Given the description of an element on the screen output the (x, y) to click on. 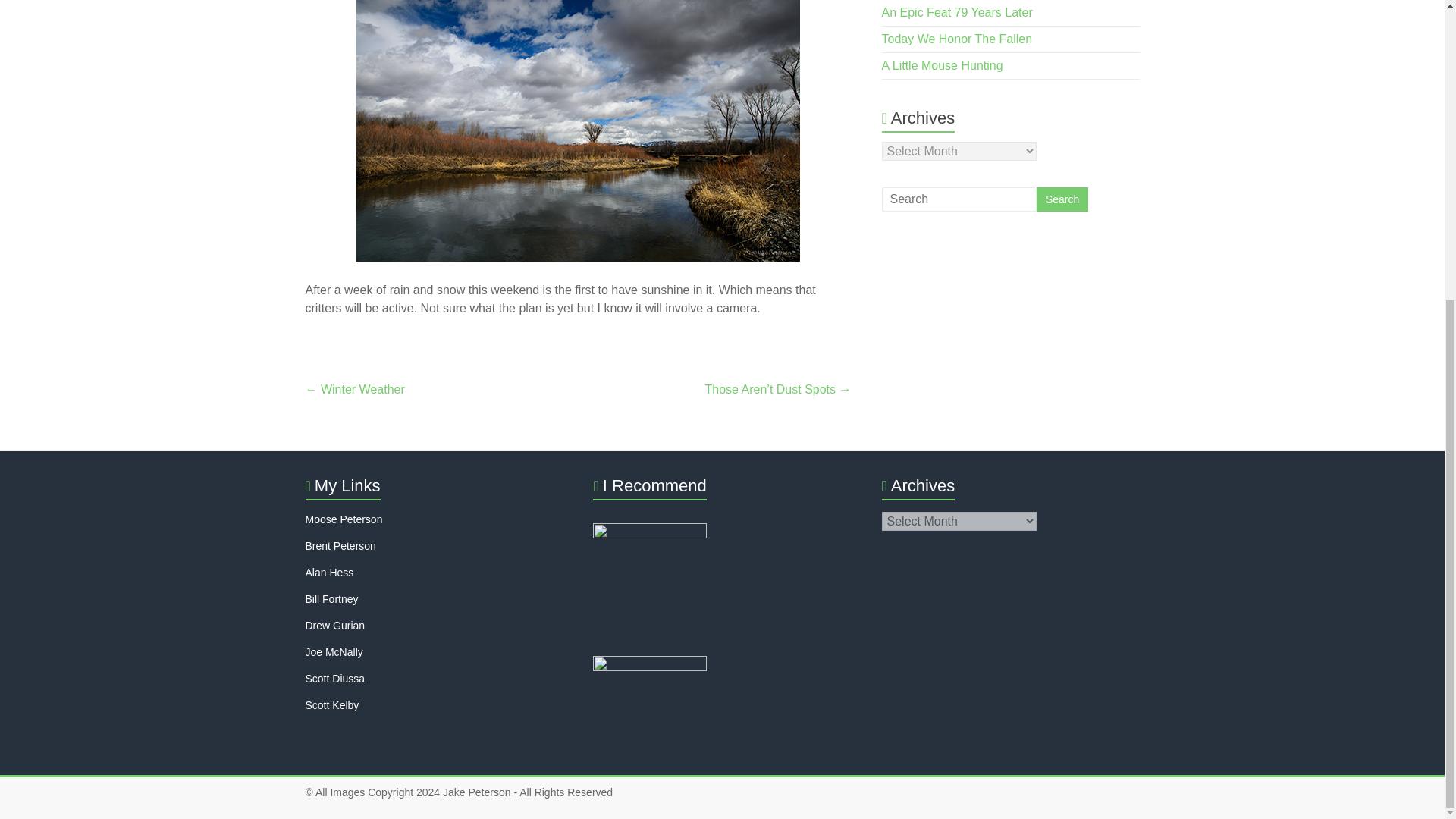
Bill Fortney (331, 598)
Search (1061, 199)
Drew Gurian (334, 625)
An Epic Feat 79 Years Later (957, 11)
Joe McNally (333, 652)
Alan Hess (328, 572)
Moose Peterson (342, 519)
Brent Peterson (339, 545)
Today We Honor The Fallen (957, 38)
Search (1061, 199)
A Little Mouse Hunting (942, 65)
